Given the description of an element on the screen output the (x, y) to click on. 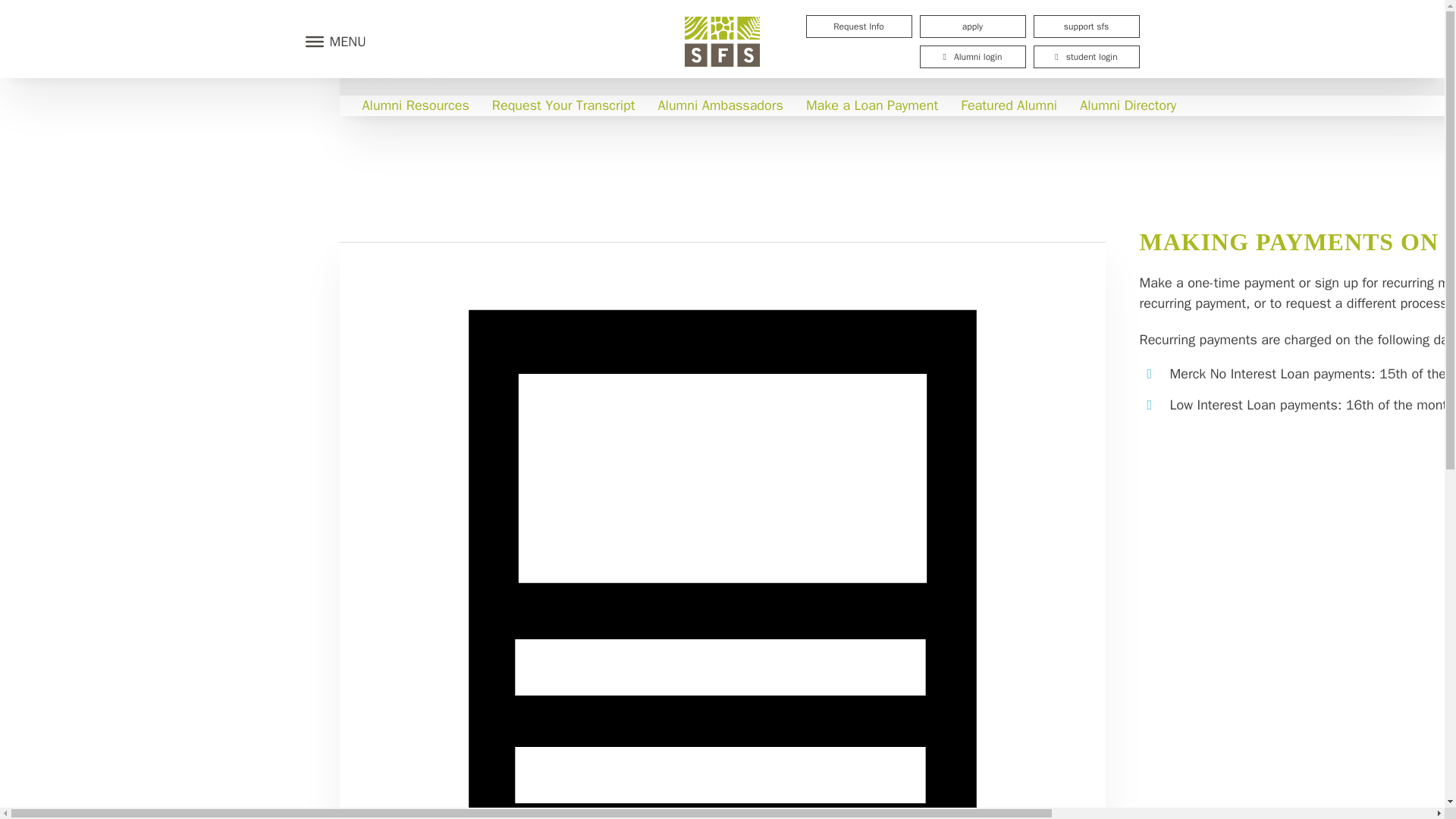
student login (1085, 56)
Request Info (858, 26)
MENU (331, 41)
support sfs (1085, 26)
Alumni login (971, 56)
apply (971, 26)
